Given the description of an element on the screen output the (x, y) to click on. 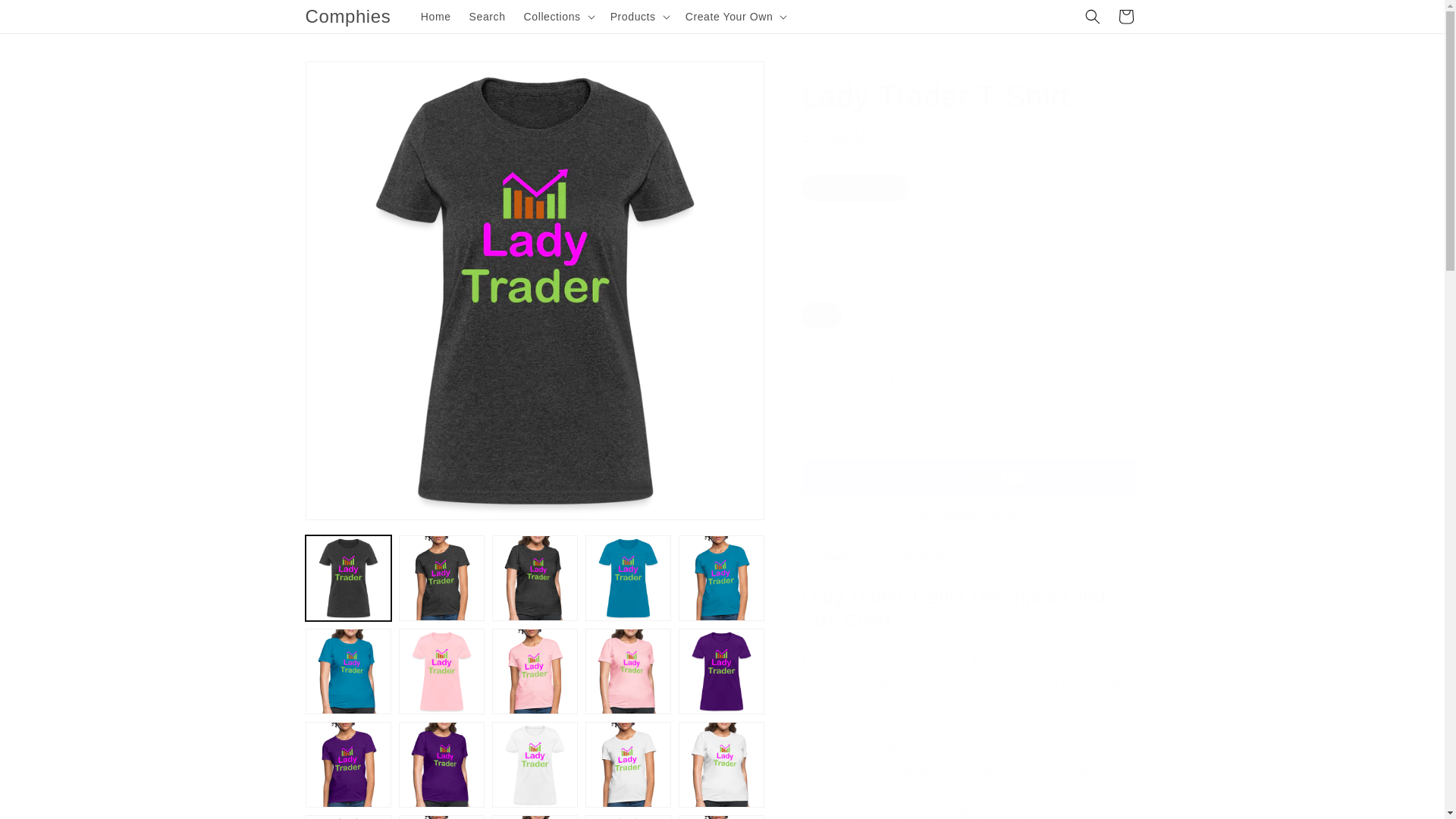
Skip to content (45, 17)
